Given the description of an element on the screen output the (x, y) to click on. 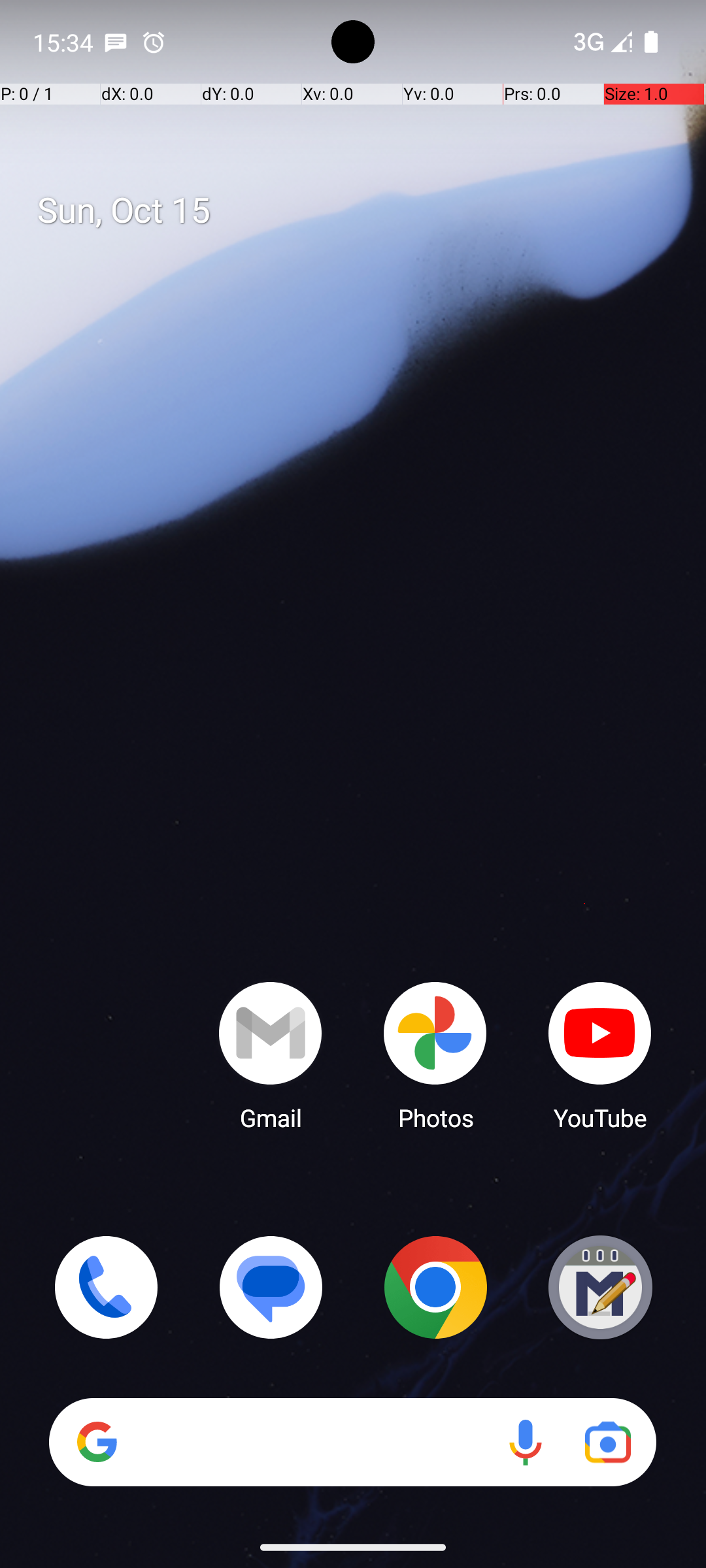
Clock notification: Missed alarm Element type: android.widget.ImageView (153, 41)
